Given the description of an element on the screen output the (x, y) to click on. 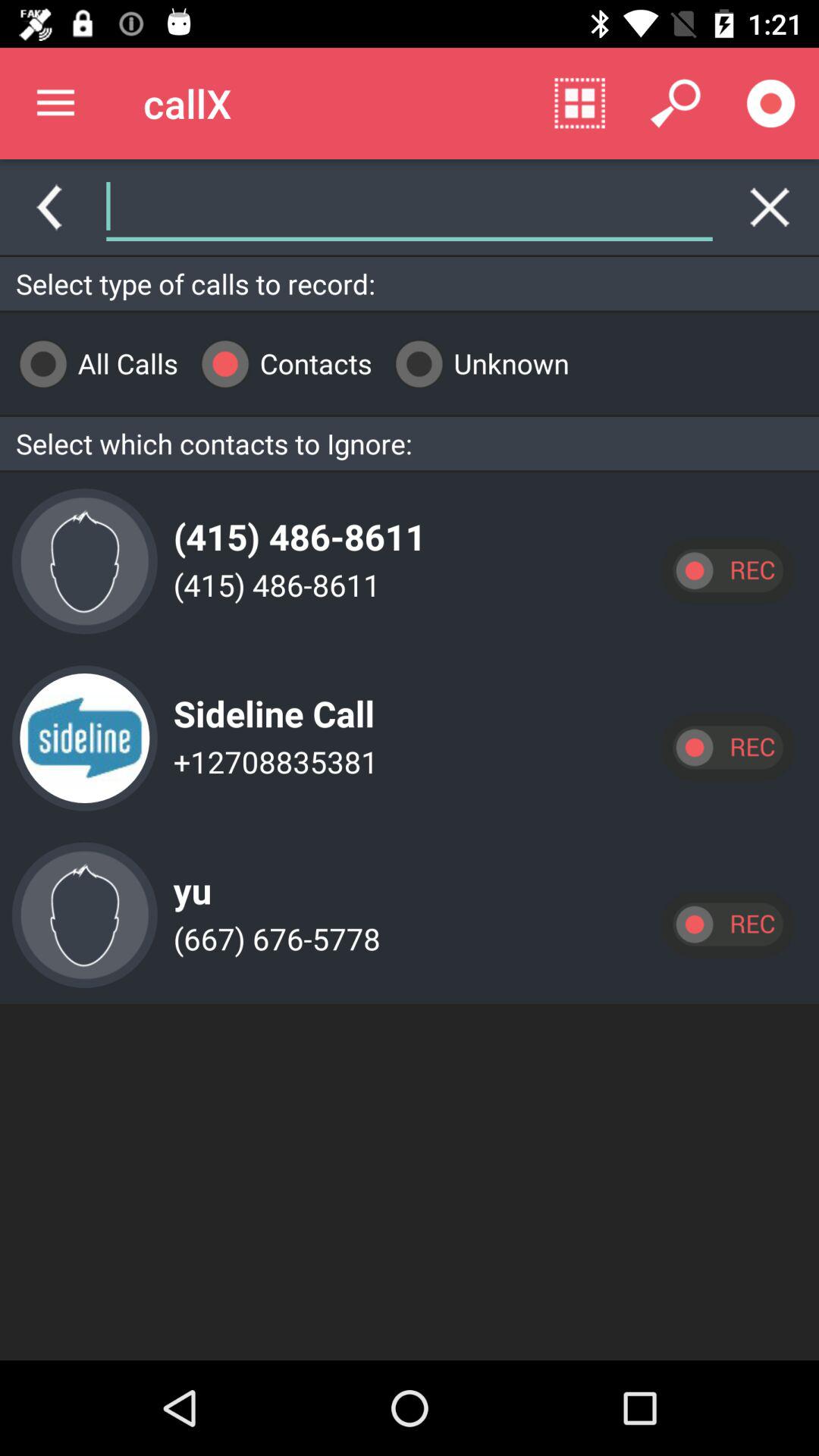
record call (771, 103)
